Given the description of an element on the screen output the (x, y) to click on. 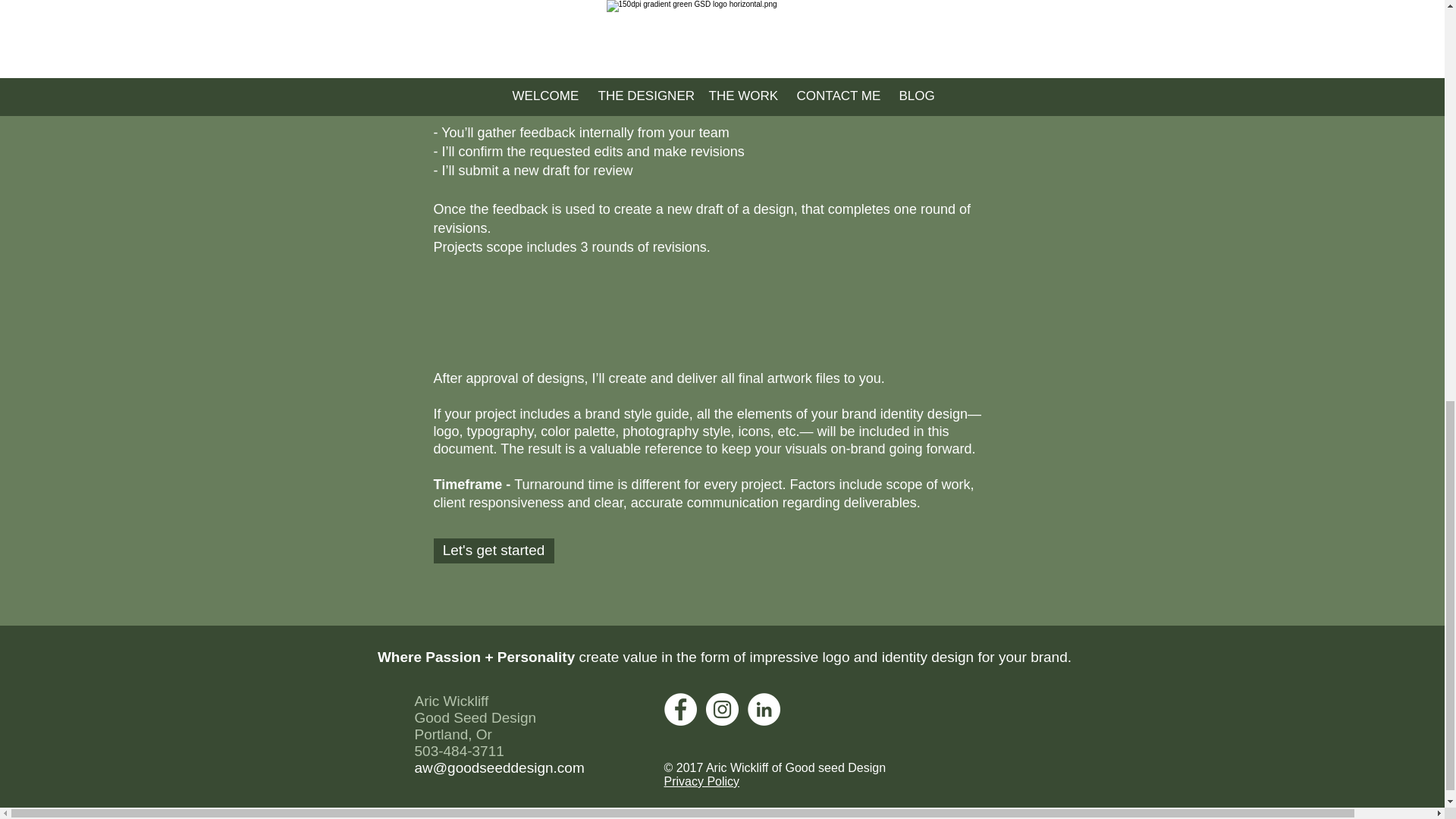
Let's get started (493, 550)
503-484-3711 (458, 750)
Privacy Policy (701, 780)
